Given the description of an element on the screen output the (x, y) to click on. 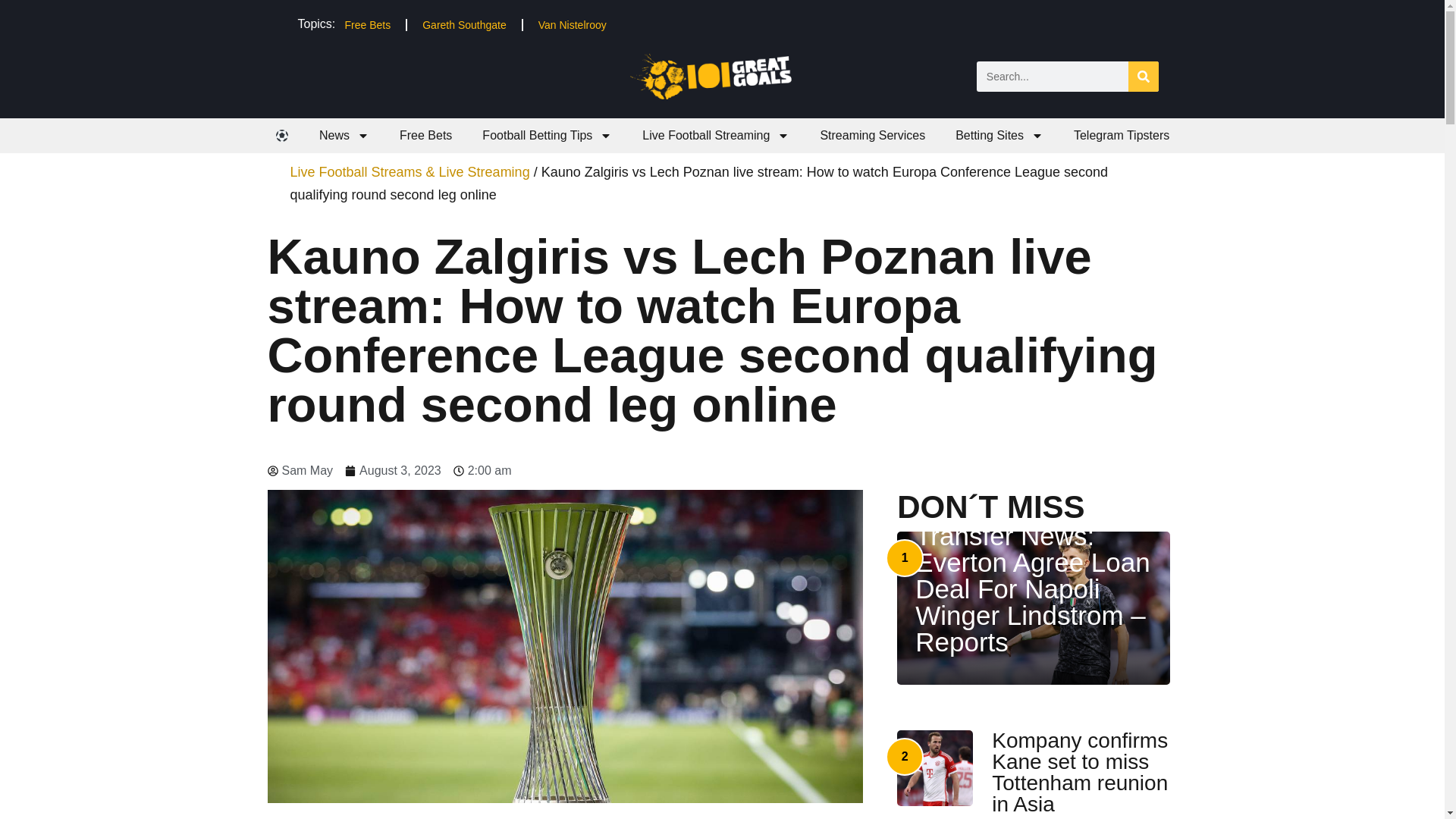
Van Nistelrooy (571, 24)
Streaming Services (872, 135)
Betting Sites (999, 135)
Live Football Streaming (716, 135)
News (344, 135)
Football Betting Tips (547, 135)
Free Bets (367, 24)
Free Bets (425, 135)
Gareth Southgate (464, 24)
